Given the description of an element on the screen output the (x, y) to click on. 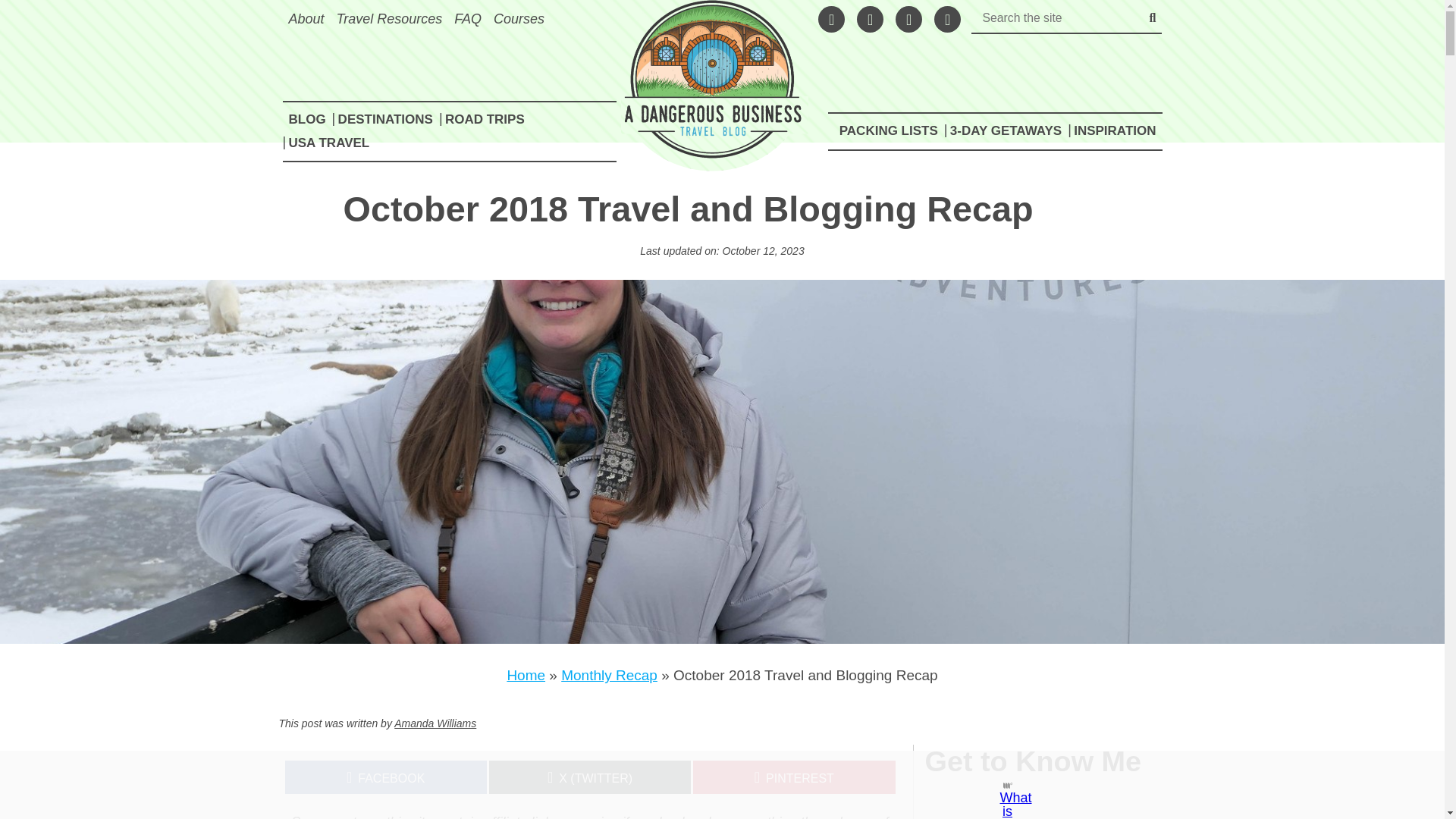
PACKING LISTS (887, 131)
FAQ (467, 18)
USA TRAVEL (328, 143)
About (306, 18)
DESTINATIONS (385, 119)
Travel Resources (389, 18)
BLOG (306, 119)
Courses (518, 18)
3rd party ad content (708, 785)
ROAD TRIPS (485, 119)
INSPIRATION (1114, 131)
3-DAY GETAWAYS (1005, 131)
